Given the description of an element on the screen output the (x, y) to click on. 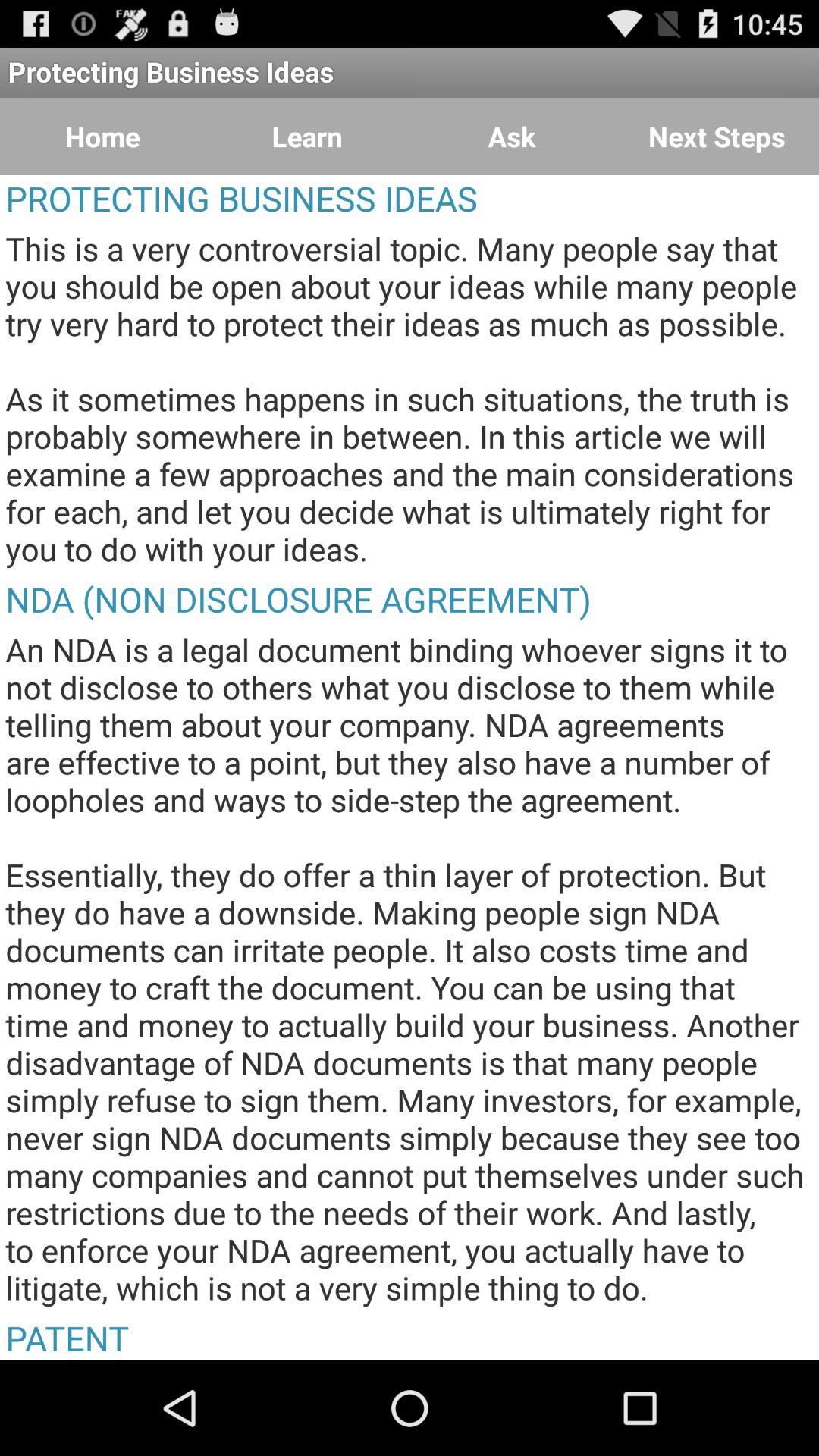
jump until learn icon (306, 136)
